Given the description of an element on the screen output the (x, y) to click on. 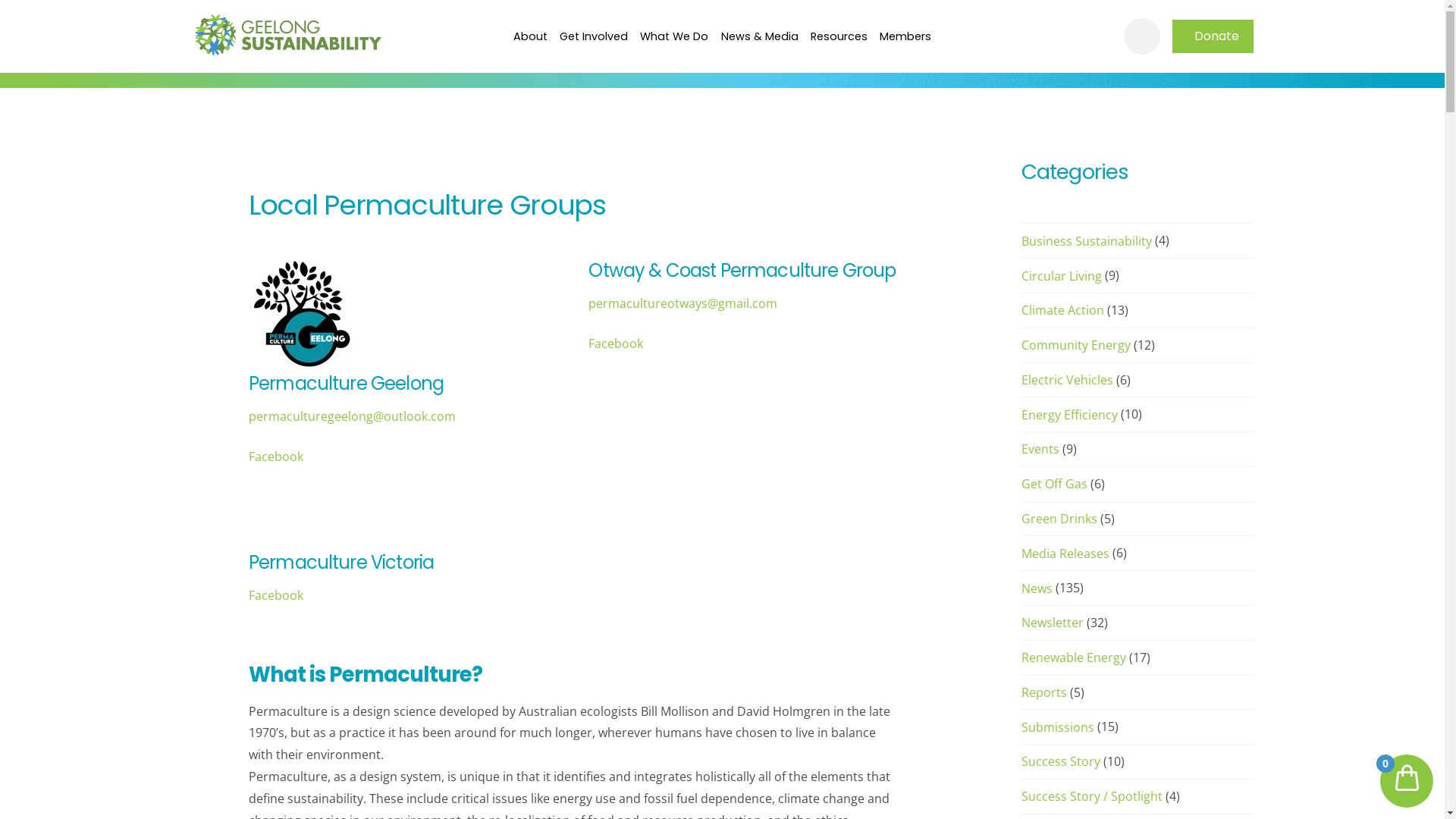
About Element type: text (529, 36)
Facebook Element type: text (275, 456)
Facebook Element type: text (275, 594)
Newsletter Element type: text (1052, 622)
Energy Efficiency Element type: text (1069, 414)
Green Drinks Element type: text (1059, 518)
Circular Living Element type: text (1061, 275)
Success Story / Spotlight Element type: text (1091, 796)
Submissions Element type: text (1057, 727)
What We Do Element type: text (673, 36)
Get Involved Element type: text (593, 36)
Success Story Element type: text (1060, 761)
Reports Element type: text (1043, 692)
News & Media Element type: text (758, 36)
Otway & Coast Permaculture Group Element type: text (741, 269)
Events Element type: text (1040, 448)
Climate Action Element type: text (1062, 310)
permacultureotways@gmail.com Element type: text (682, 302)
Business Sustainability Element type: text (1086, 241)
Facebook Element type: text (615, 343)
Renewable Energy Element type: text (1073, 657)
Permaculture Geelong Element type: text (345, 382)
Community Energy Element type: text (1075, 344)
News Element type: text (1036, 588)
Permaculture Victoria Element type: text (340, 561)
Media Releases Element type: text (1065, 553)
Resources Element type: text (838, 36)
Members Element type: text (905, 36)
Donate Element type: text (1212, 36)
Electric Vehicles Element type: text (1067, 379)
Get Off Gas Element type: text (1054, 483)
permaculturegeelong@outlook.com Element type: text (351, 415)
